Given the description of an element on the screen output the (x, y) to click on. 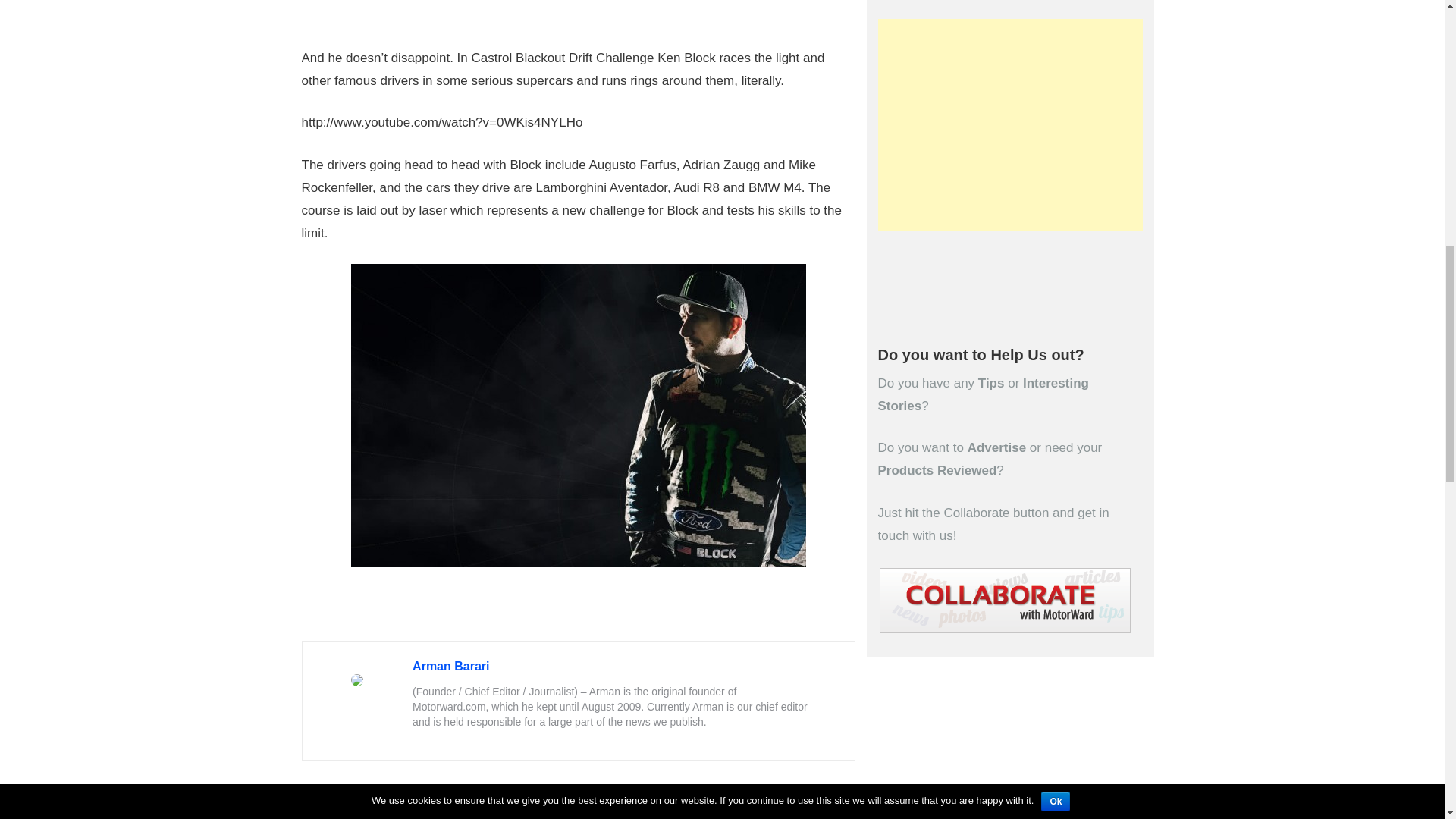
Advertisement (1009, 124)
Posts by Arman Barari (450, 666)
